Given the description of an element on the screen output the (x, y) to click on. 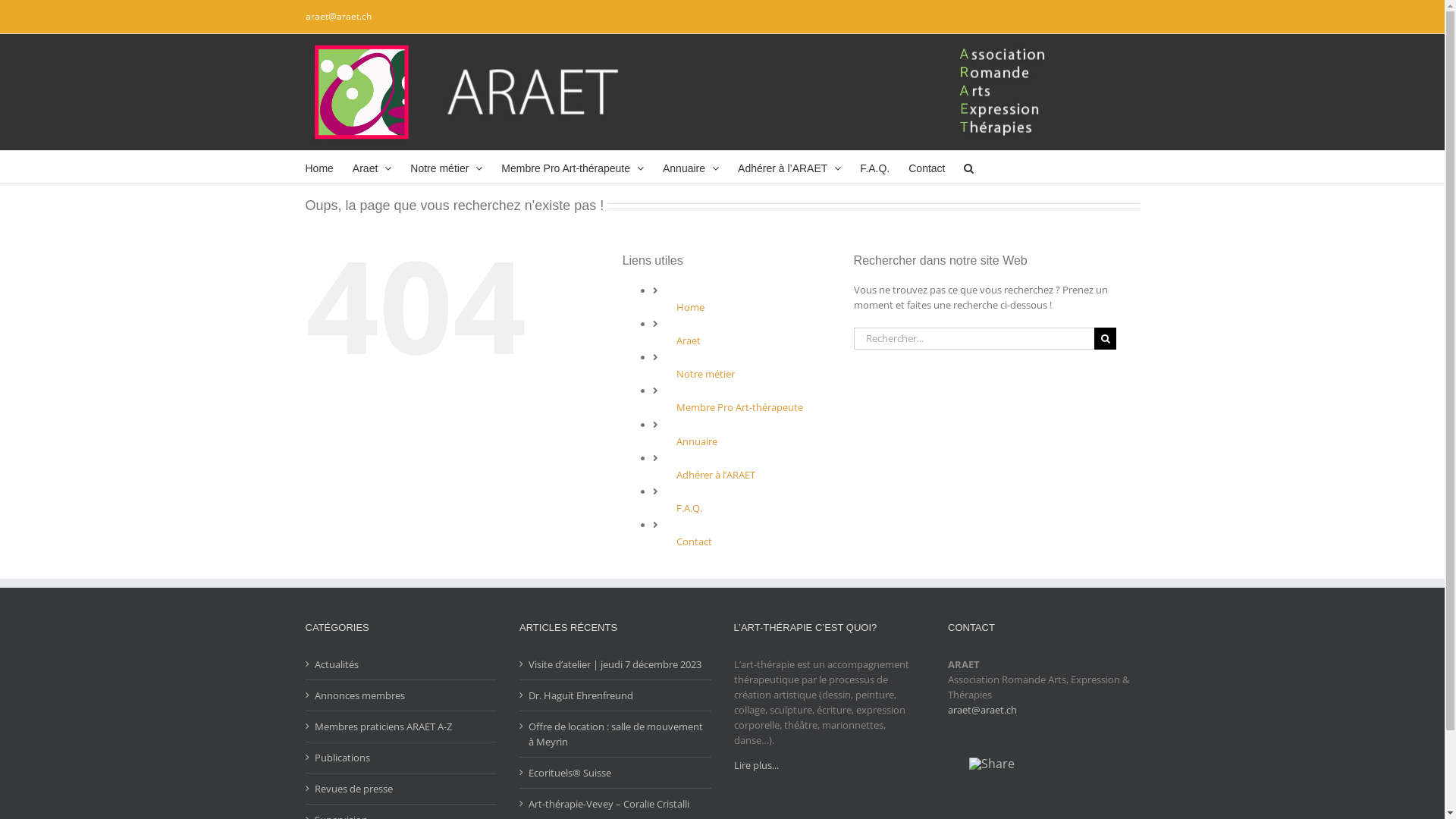
Recherche Element type: hover (968, 166)
Home Element type: text (690, 306)
Lire plus... Element type: text (756, 764)
araet@araet.ch Element type: text (981, 709)
Membres praticiens ARAET A-Z Element type: text (401, 726)
F.A.Q. Element type: text (874, 166)
Home Element type: text (318, 166)
Dr. Haguit Ehrenfreund Element type: text (615, 694)
Annonces membres Element type: text (401, 694)
Revues de presse Element type: text (401, 788)
Contact Element type: text (694, 541)
Araet Element type: text (688, 340)
F.A.Q. Element type: text (689, 507)
Contact Element type: text (926, 166)
Annuaire Element type: text (690, 166)
Publications Element type: text (401, 757)
araet@araet.ch Element type: text (337, 15)
Annuaire Element type: text (696, 441)
Araet Element type: text (371, 166)
